Given the description of an element on the screen output the (x, y) to click on. 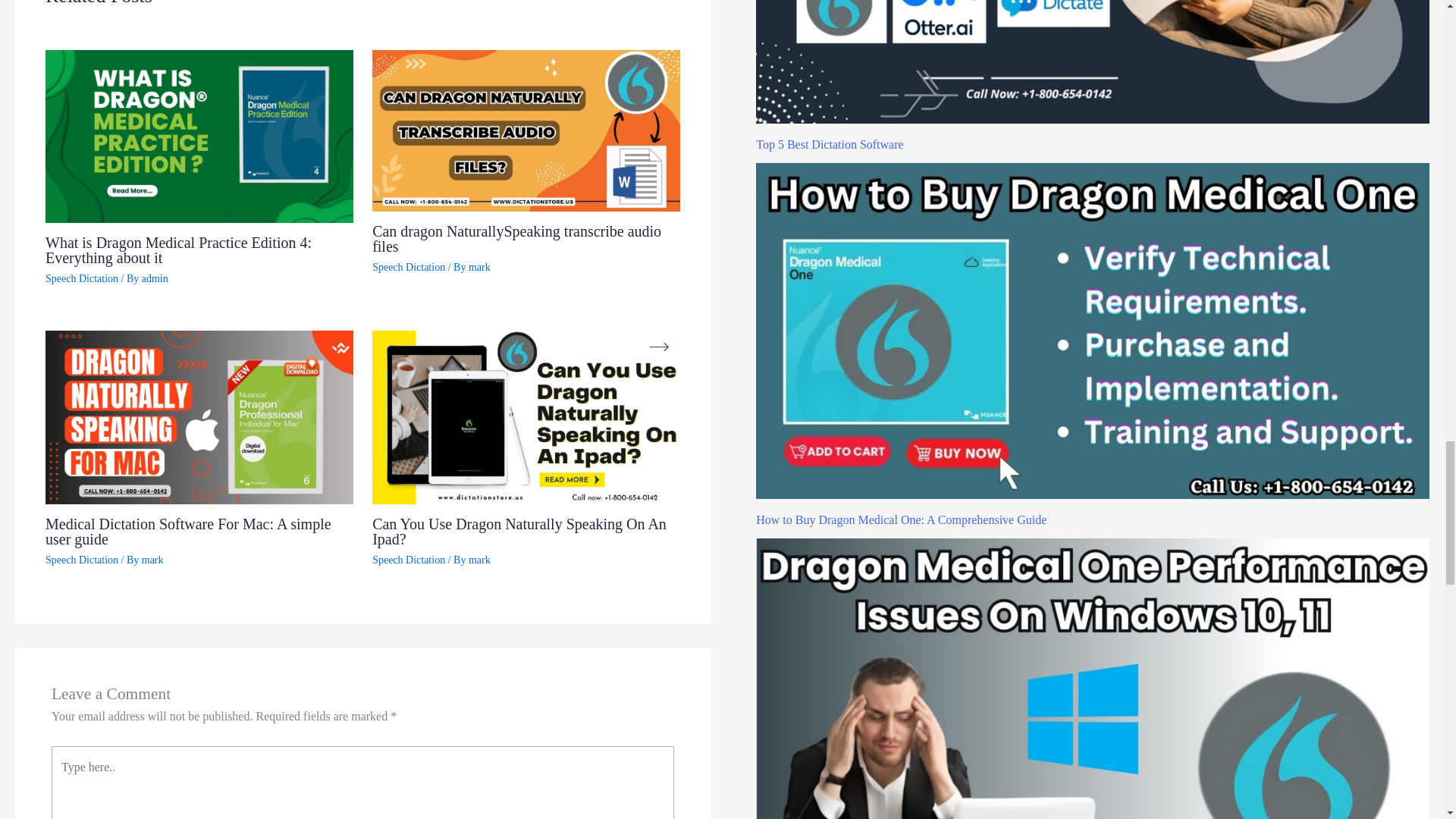
View all posts by admin (154, 278)
View all posts by mark (152, 559)
View all posts by mark (479, 559)
View all posts by mark (479, 266)
